Given the description of an element on the screen output the (x, y) to click on. 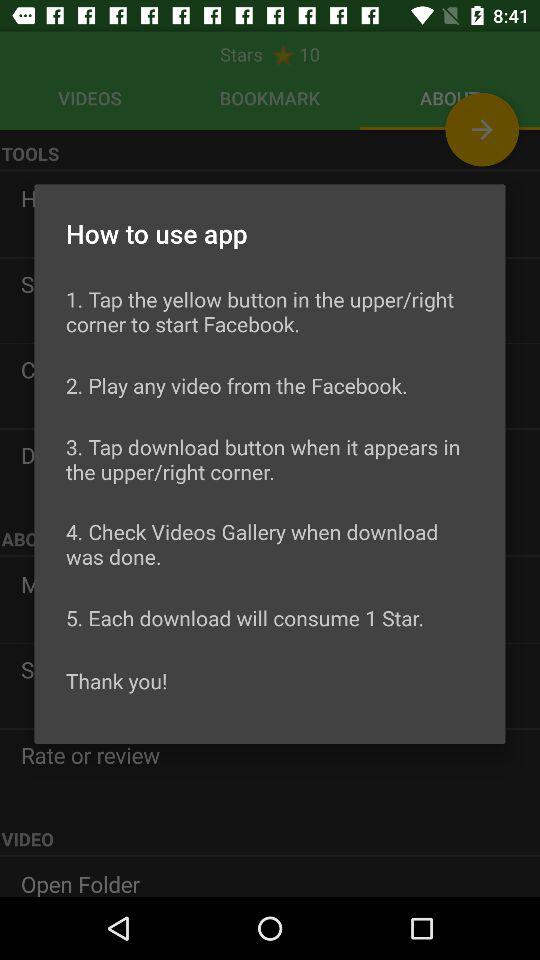
press the thank you! item (116, 680)
